Given the description of an element on the screen output the (x, y) to click on. 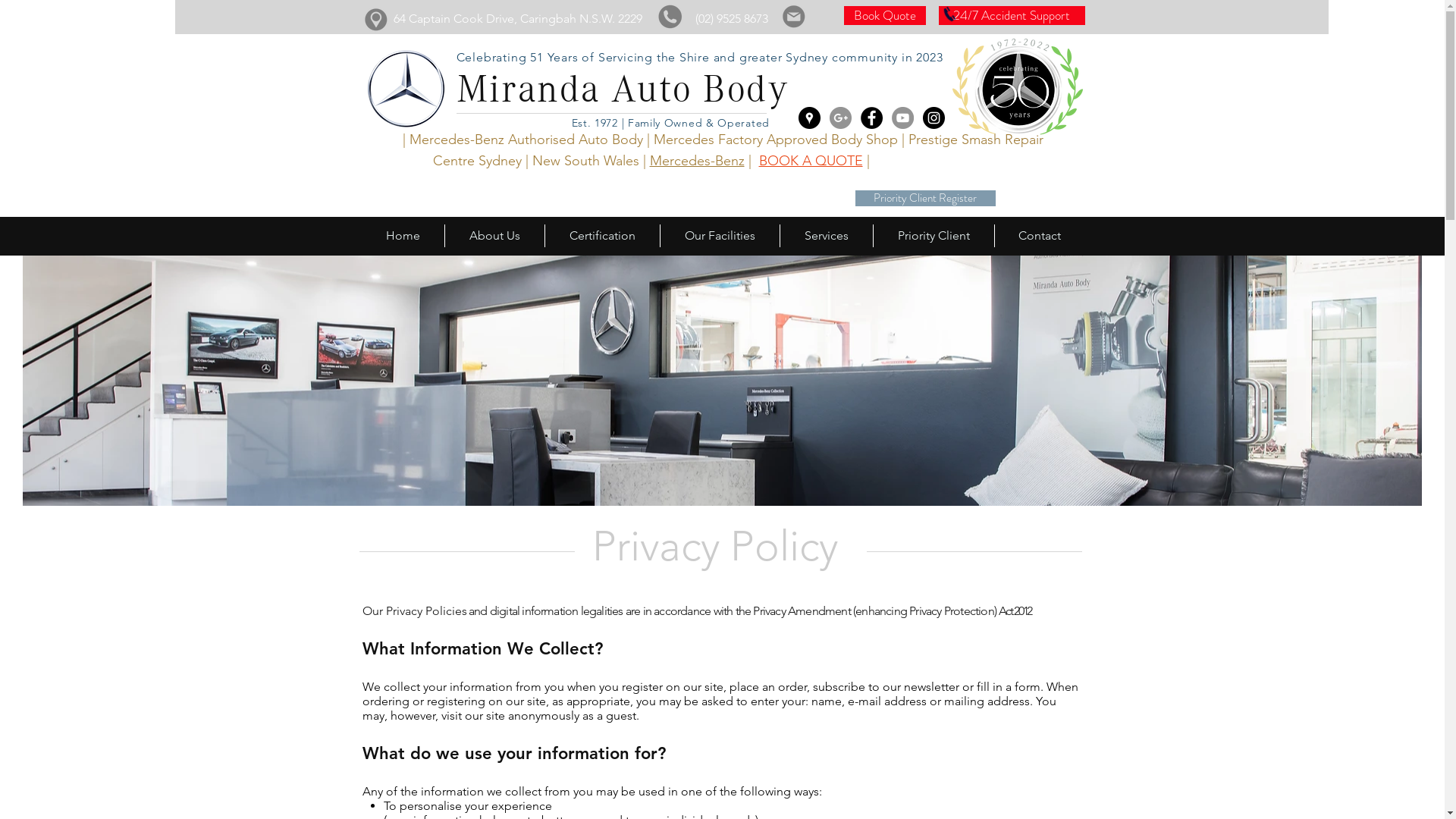
(02) 9525 8673 Element type: text (730, 18)
Priority Client Register Element type: text (925, 198)
About Us Element type: text (494, 235)
BOOK A QUOTE Element type: text (810, 160)
Mercedes-Benz Element type: text (696, 160)
Est. 1972 | Family Owned & Operated  Element type: text (672, 122)
Priority Client Element type: text (932, 235)
64 Captain Cook Drive, Caringbah N.S.W. 2229 Element type: text (516, 18)
Services Element type: text (825, 235)
Our Facilities Element type: text (719, 235)
Book Quote Element type: text (884, 15)
24/7 Accident Support Element type: text (1011, 15)
Certification Element type: text (601, 235)
Contact Element type: text (1038, 235)
Home Element type: text (401, 235)
